Given the description of an element on the screen output the (x, y) to click on. 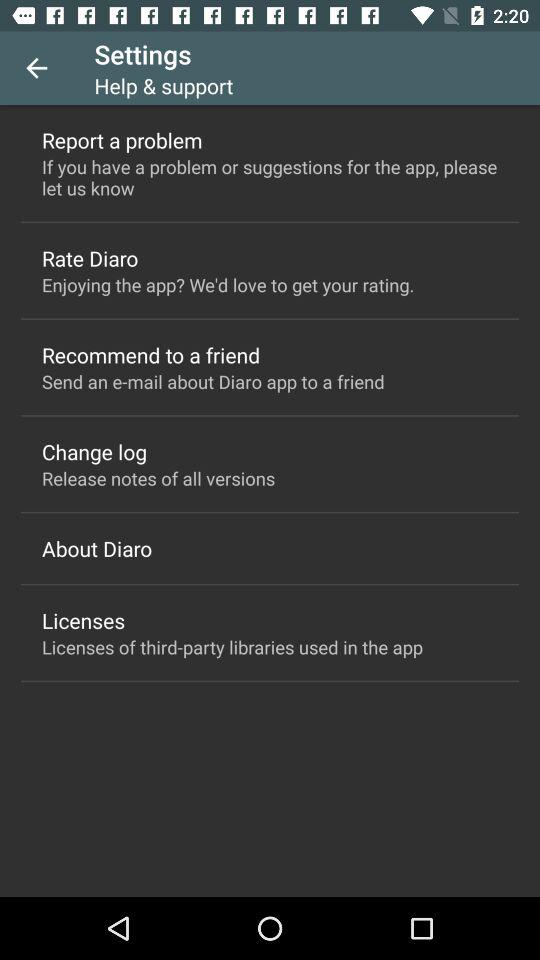
choose the icon below the send an e icon (94, 451)
